Given the description of an element on the screen output the (x, y) to click on. 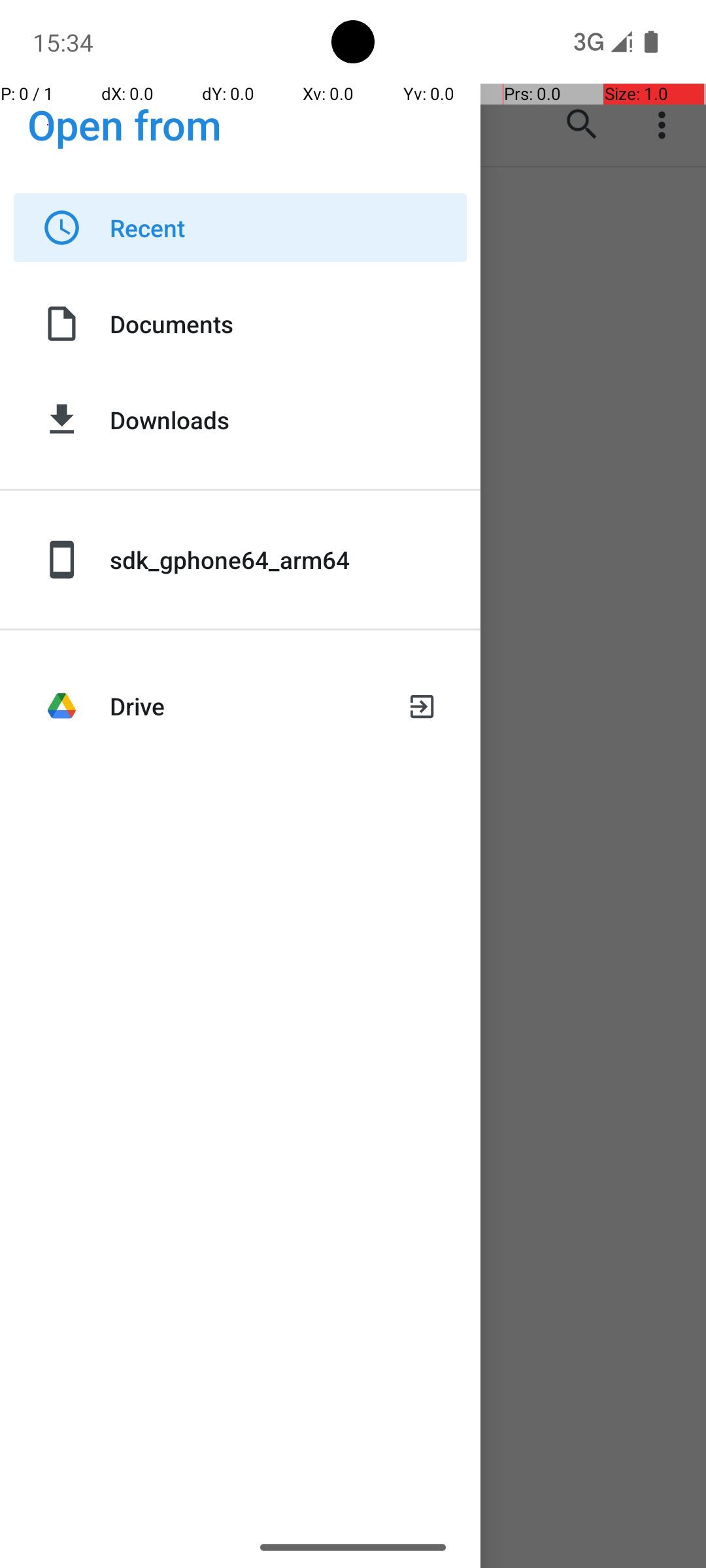
Open from Element type: android.widget.TextView (124, 124)
Drive Element type: android.widget.TextView (246, 705)
